Given the description of an element on the screen output the (x, y) to click on. 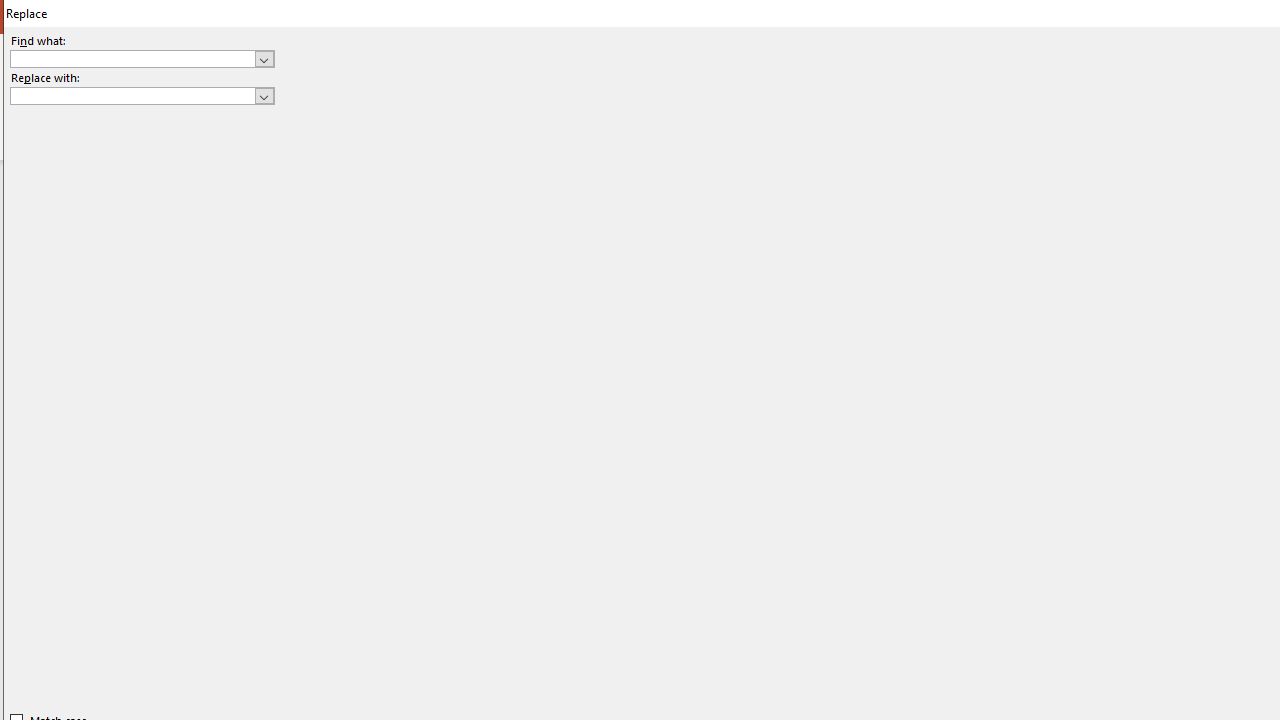
Replace with (142, 96)
Replace with (132, 95)
Find what (142, 58)
Find what (132, 58)
